Given the description of an element on the screen output the (x, y) to click on. 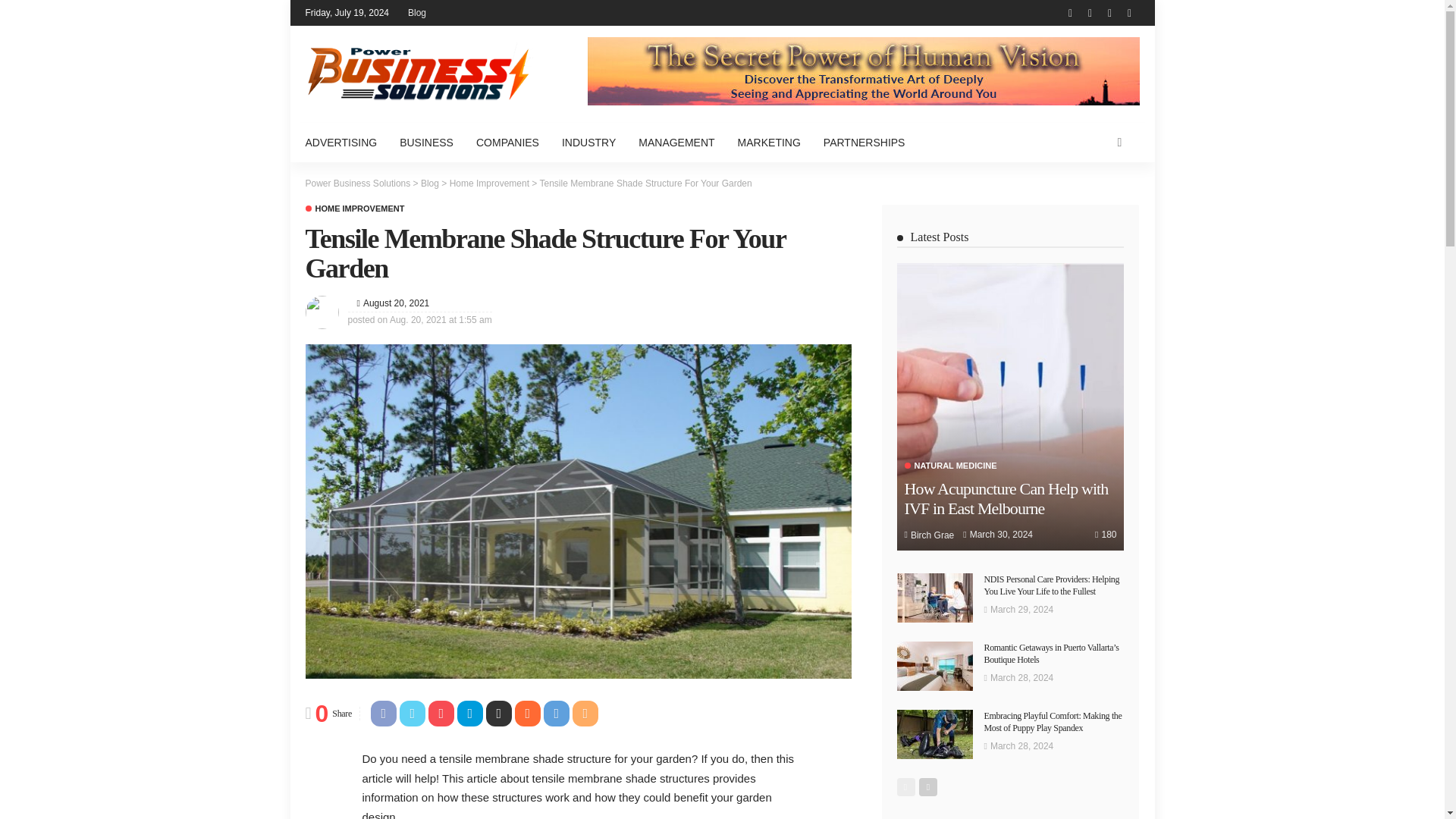
Home Improvement (354, 208)
Go to Blog. (429, 182)
Go to the Home Improvement Category archives. (489, 182)
ADVERTISING (346, 142)
Go to Power Business Solutions. (357, 182)
search (1118, 142)
Blog (416, 12)
